Given the description of an element on the screen output the (x, y) to click on. 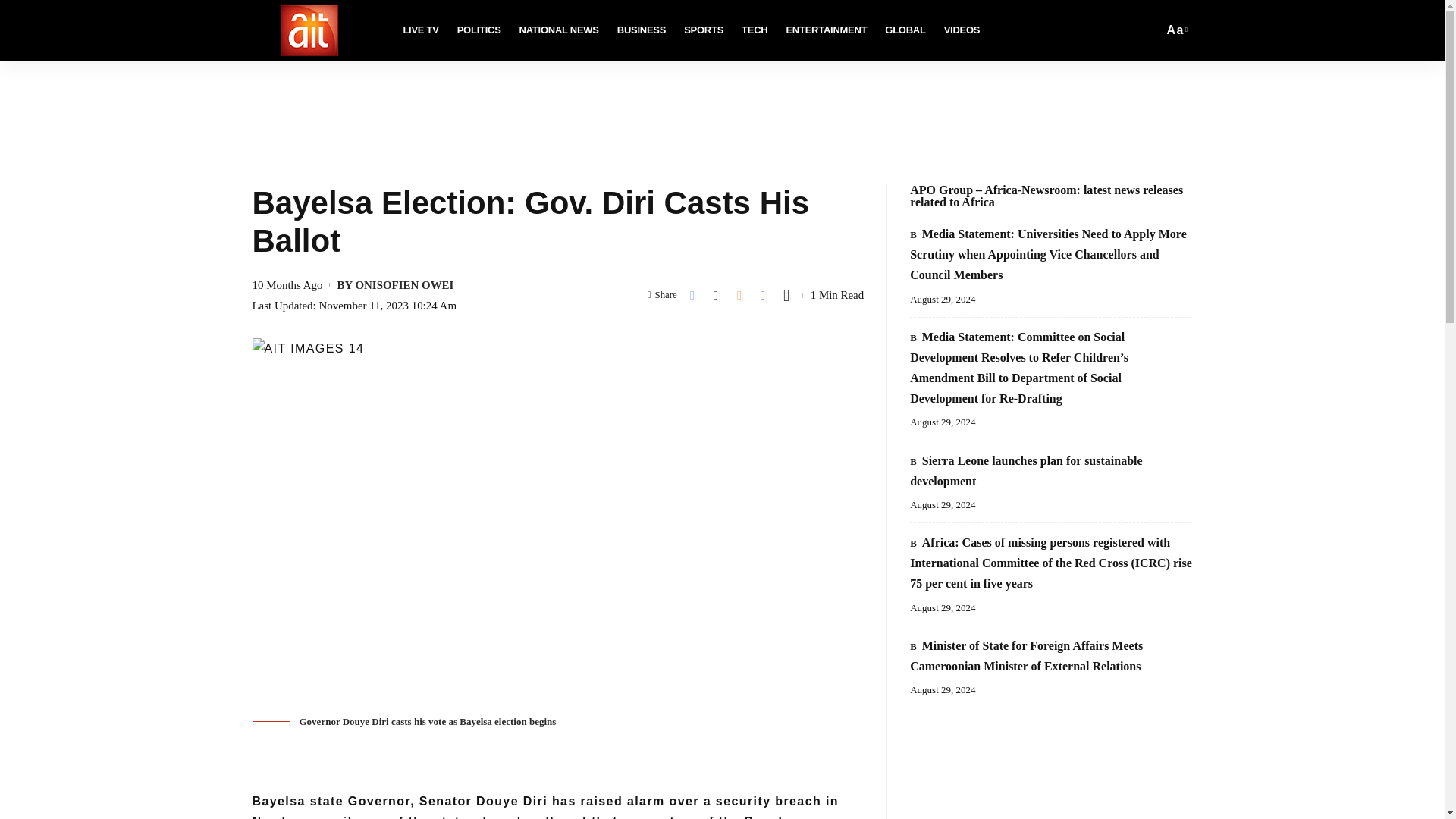
GLOBAL (1176, 29)
BUSINESS (905, 30)
POLITICS (641, 30)
ENTERTAINMENT (479, 30)
LIVE TV (826, 30)
SPORTS (413, 30)
NATIONAL NEWS (703, 30)
VIDEOS (559, 30)
AIT LIVE (962, 30)
